Given the description of an element on the screen output the (x, y) to click on. 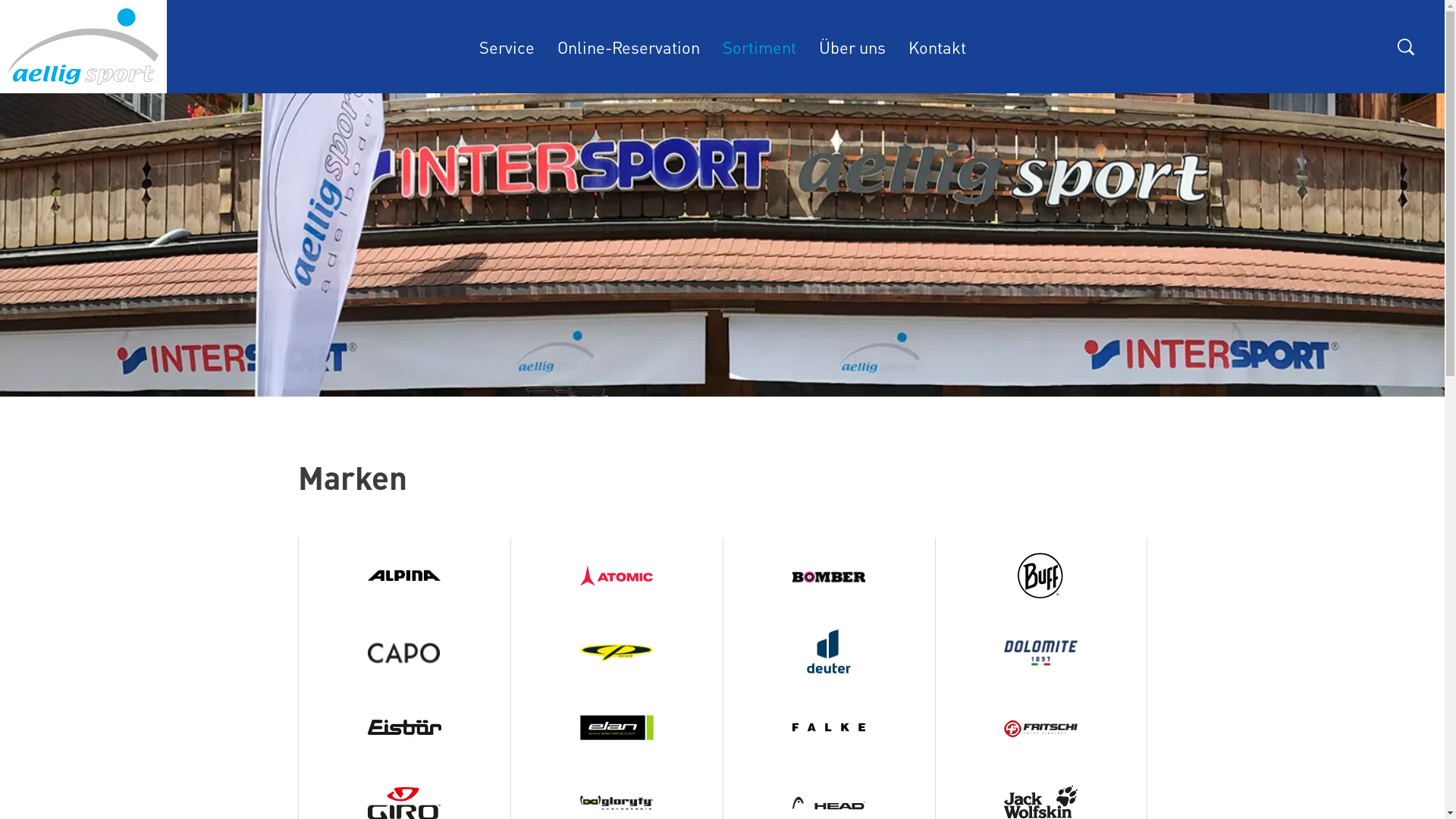
Service Element type: text (506, 46)
Online-Reservation Element type: text (628, 46)
Aellig Sport AG Element type: hover (83, 46)
Kontakt Element type: text (936, 46)
Sortiment Element type: text (759, 46)
